Given the description of an element on the screen output the (x, y) to click on. 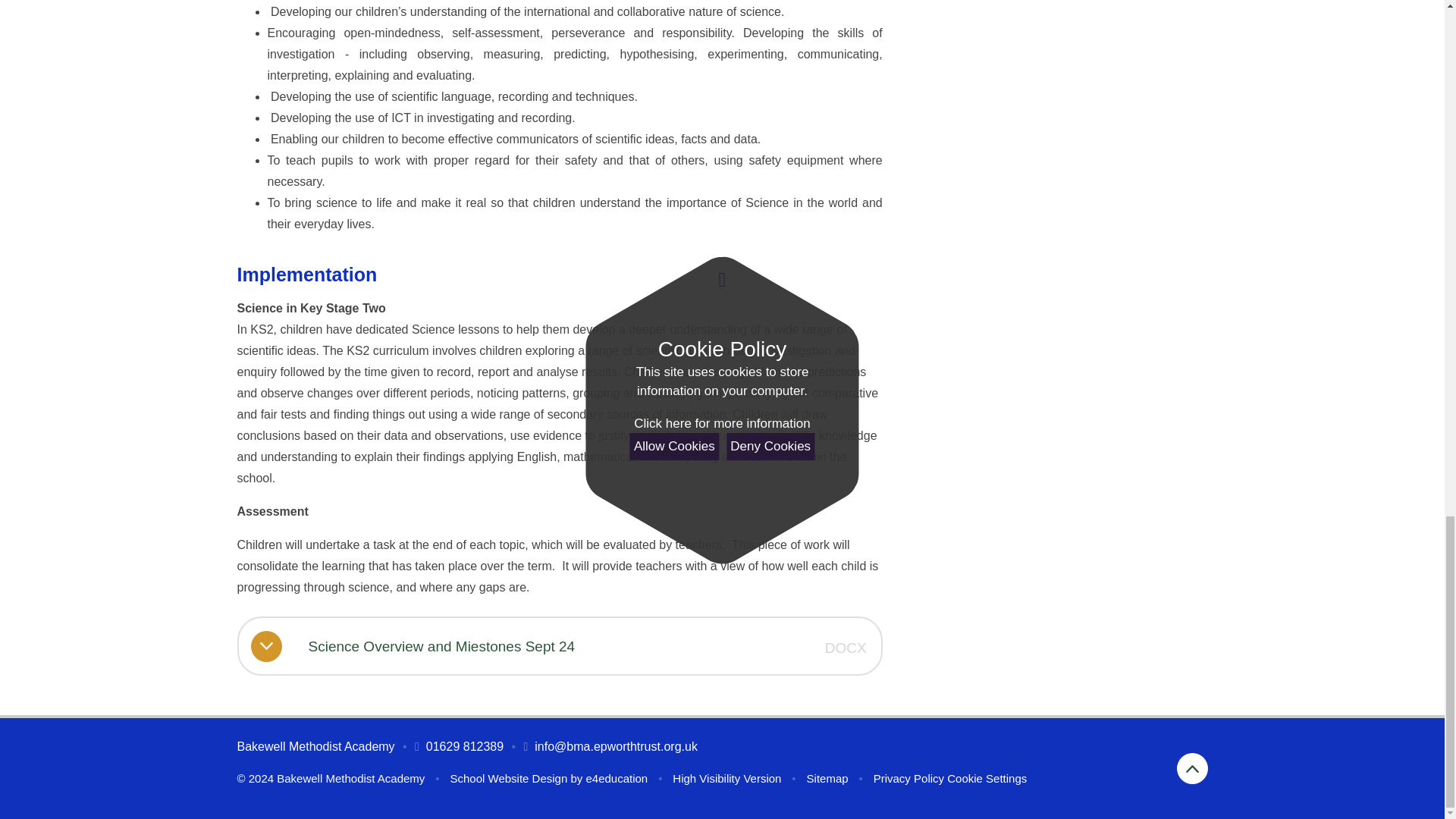
Call Bakewell Methodist Academy (458, 746)
Send email to Bakewell Methodist Academy (610, 746)
Cookie Settings (986, 778)
